Given the description of an element on the screen output the (x, y) to click on. 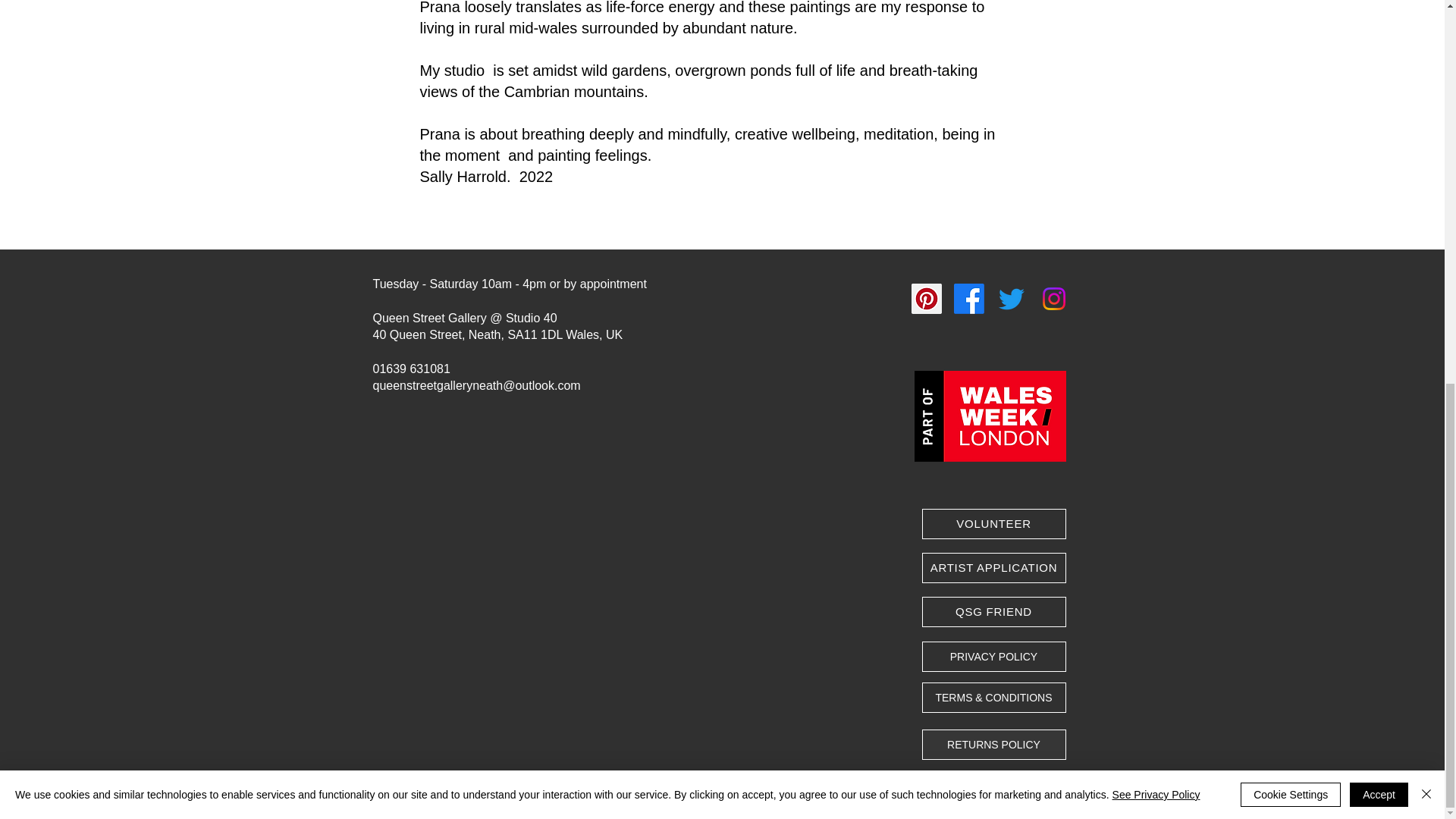
QSG FRIEND (993, 612)
ARTIST APPLICATION (993, 567)
01639 631081 (410, 368)
PRIVACY POLICY (993, 656)
VOLUNTEER (993, 523)
Google Maps (580, 633)
